Given the description of an element on the screen output the (x, y) to click on. 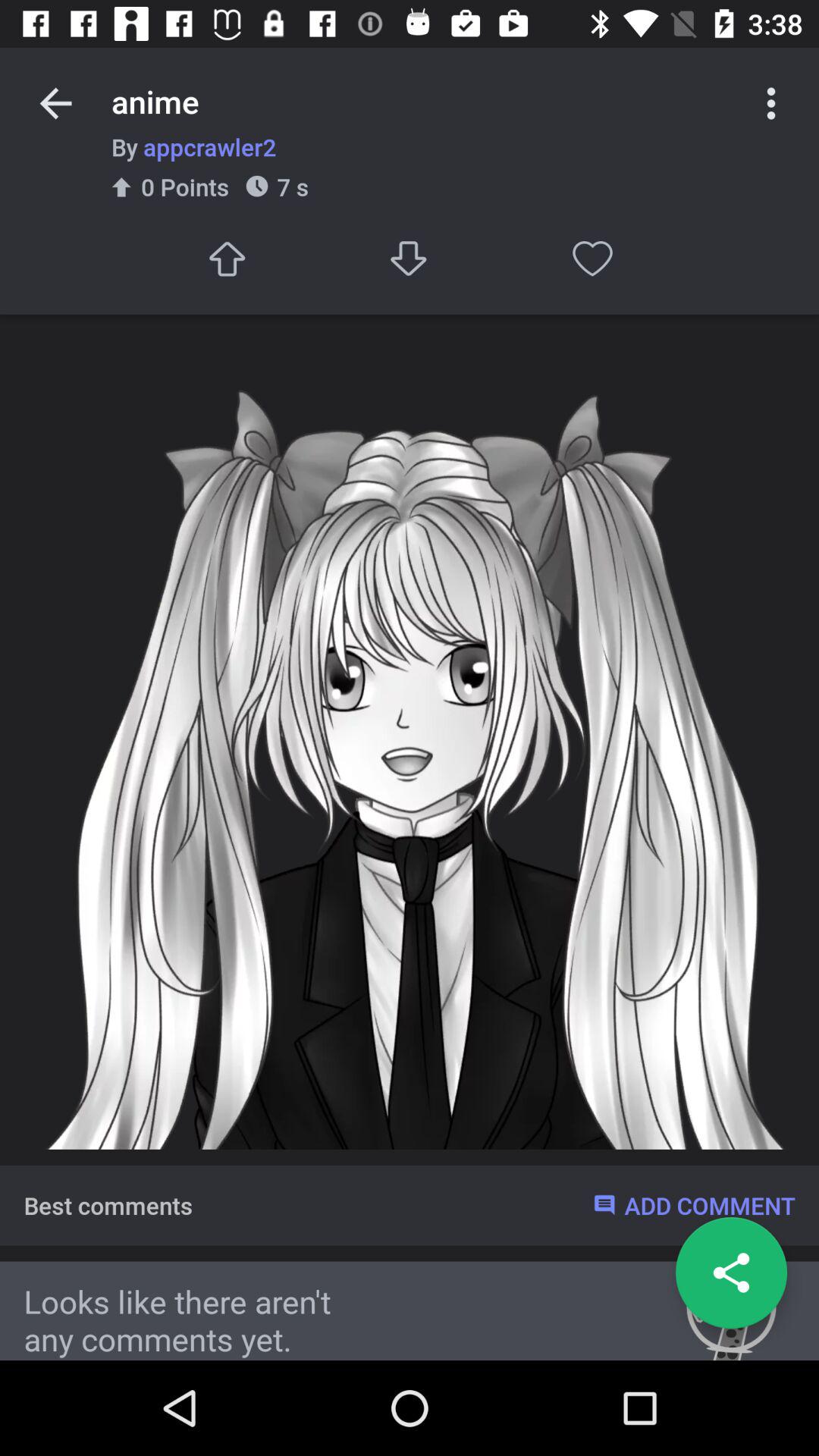
choose the selection (226, 258)
